Given the description of an element on the screen output the (x, y) to click on. 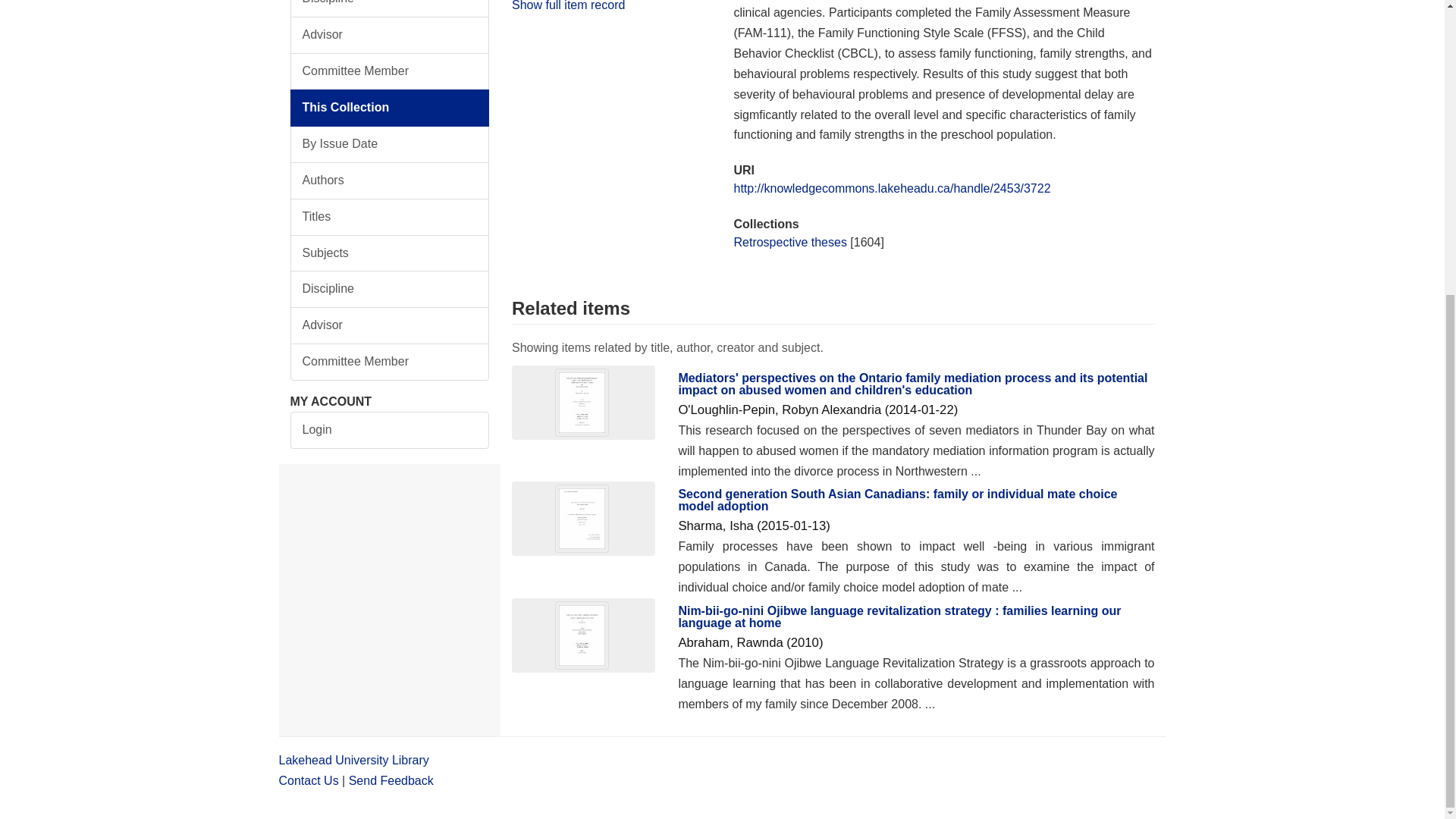
Committee Member (389, 361)
Authors (389, 180)
Discipline (389, 8)
Advisor (389, 35)
Committee Member (389, 71)
Subjects (389, 253)
Retrospective theses (789, 241)
Show full item record (568, 5)
This Collection (389, 107)
